Given the description of an element on the screen output the (x, y) to click on. 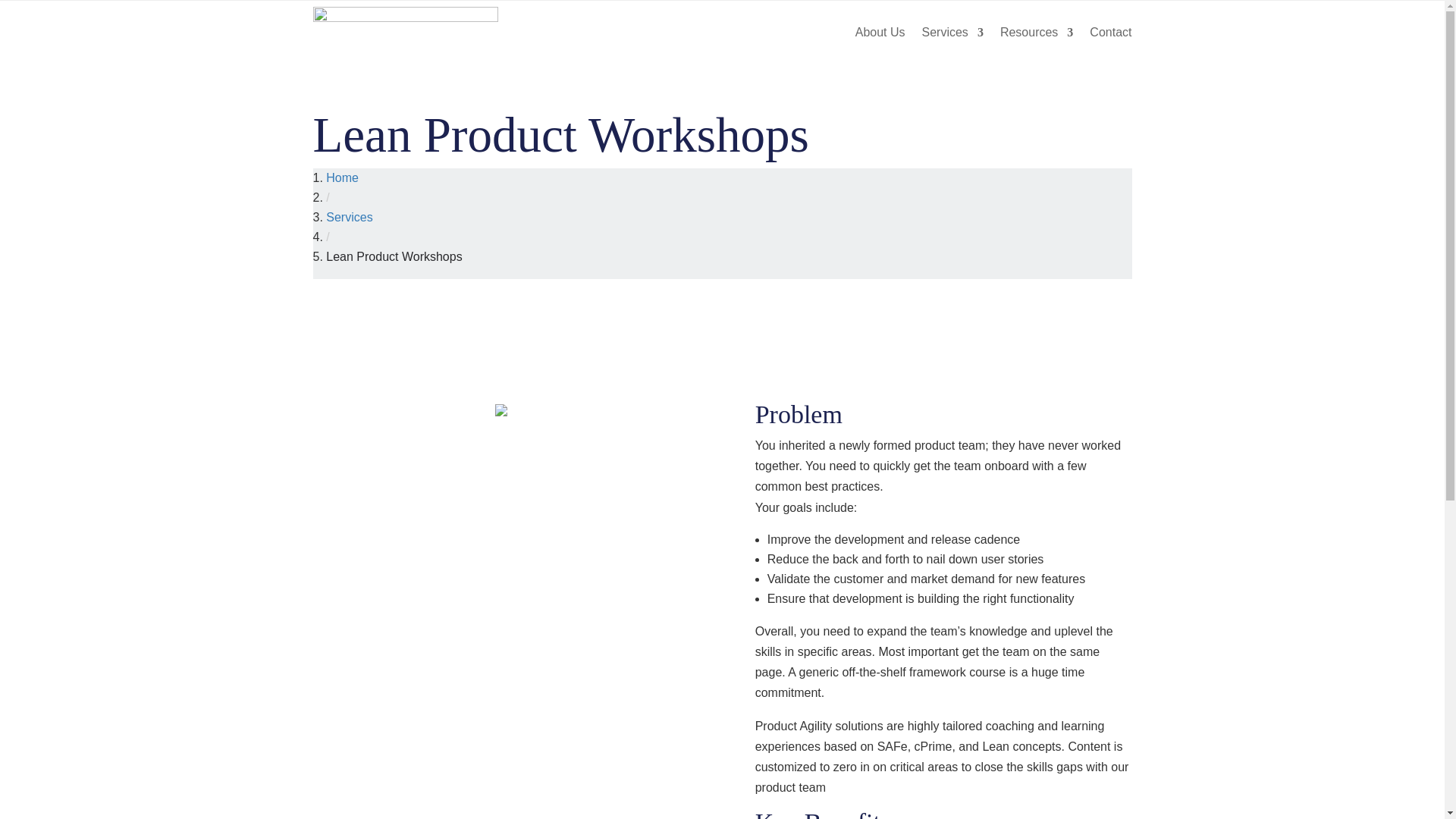
Services (349, 216)
Services (952, 32)
Services (349, 216)
Home (342, 177)
Lean Product Workshops (393, 256)
Resources (1036, 32)
